Given the description of an element on the screen output the (x, y) to click on. 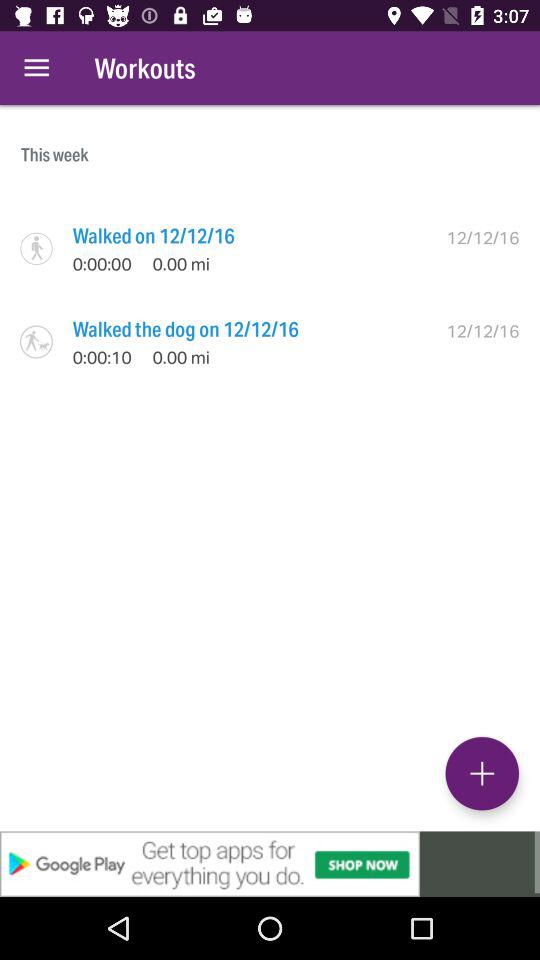
advertisement (270, 864)
